Given the description of an element on the screen output the (x, y) to click on. 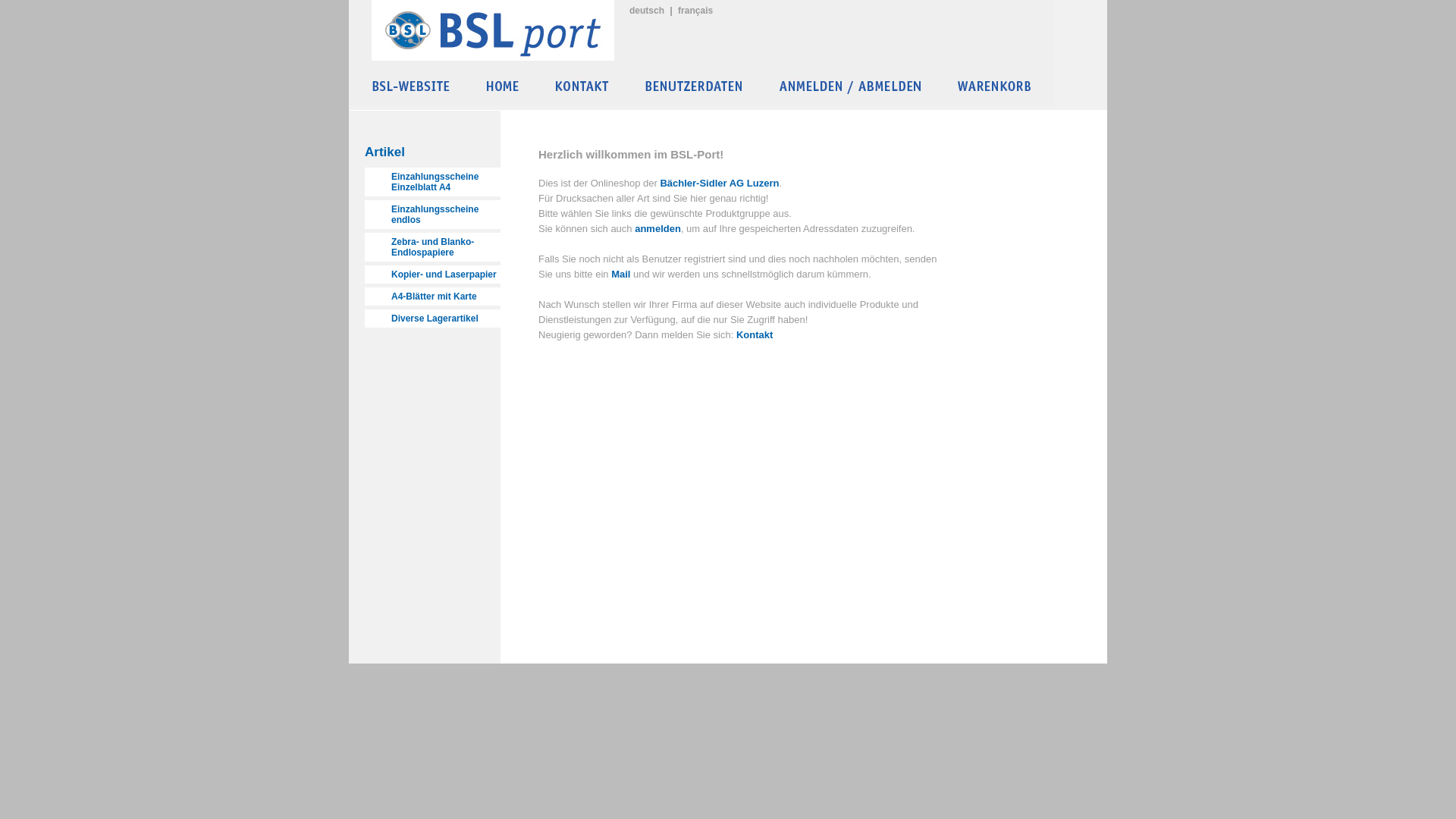
Zebra- und Blanko-Endlospapiere Element type: text (432, 246)
Kopier- und Laserpapier Element type: text (432, 274)
Diverse Lagerartikel Element type: text (432, 318)
Mail Element type: text (622, 273)
anmelden Element type: text (657, 228)
deutsch Element type: text (646, 10)
Einzahlungsscheine Einzelblatt A4 Element type: text (432, 181)
Einzahlungsscheine endlos Element type: text (432, 214)
Kontakt Element type: text (754, 334)
